Given the description of an element on the screen output the (x, y) to click on. 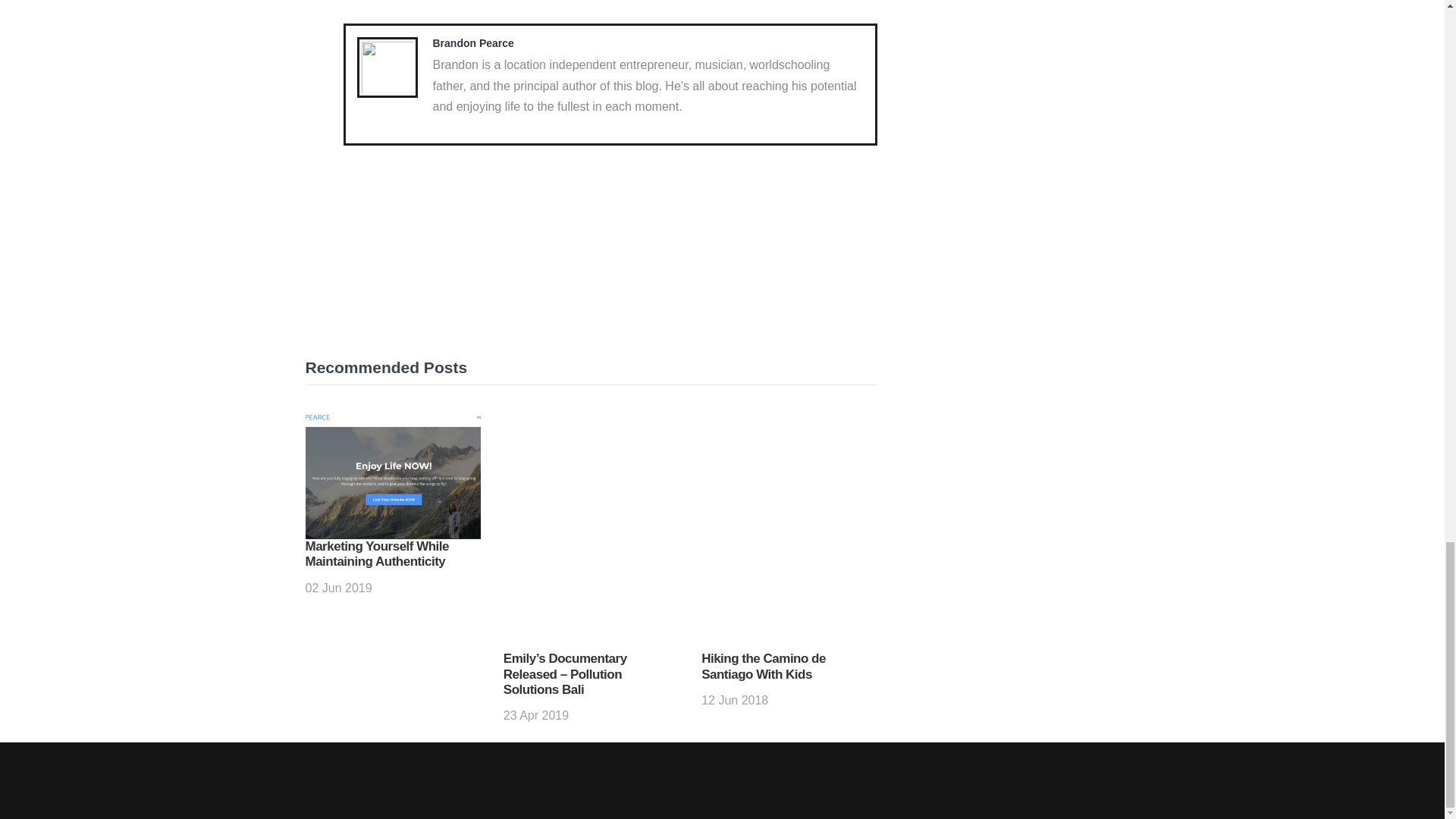
Posts by Brandon Pearce (472, 42)
